Given the description of an element on the screen output the (x, y) to click on. 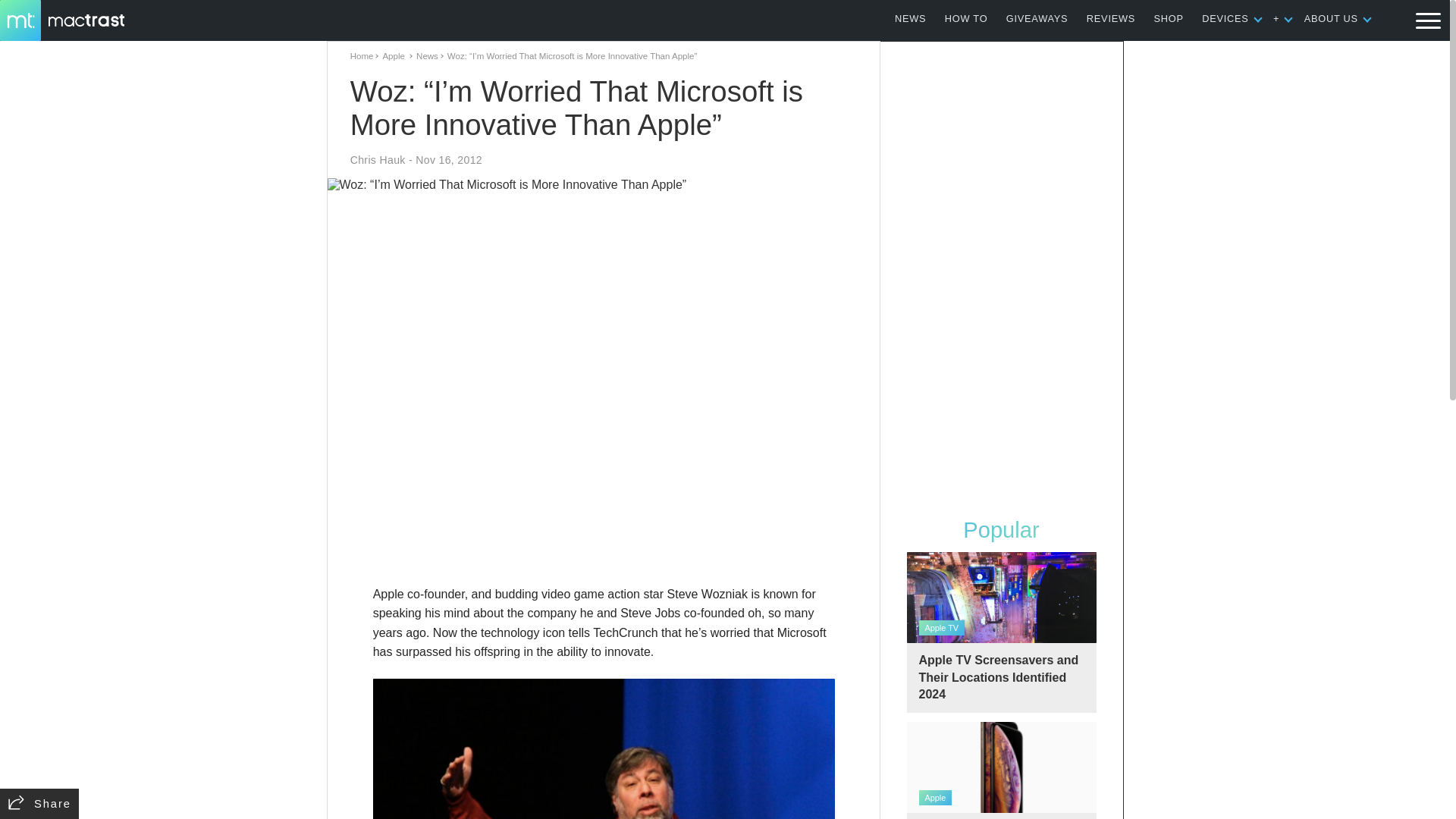
Apple TV Screensavers and Their Locations Identified 2024 (1001, 632)
Advertisement (603, 540)
ABOUT US (1331, 18)
REVIEWS (1110, 18)
Steve-Wozniak.jpg (603, 748)
DEVICES (1224, 18)
Posts by Chris Hauk (378, 159)
GIVEAWAYS (1037, 18)
SHOP (1168, 18)
NEWS (910, 18)
